Given the description of an element on the screen output the (x, y) to click on. 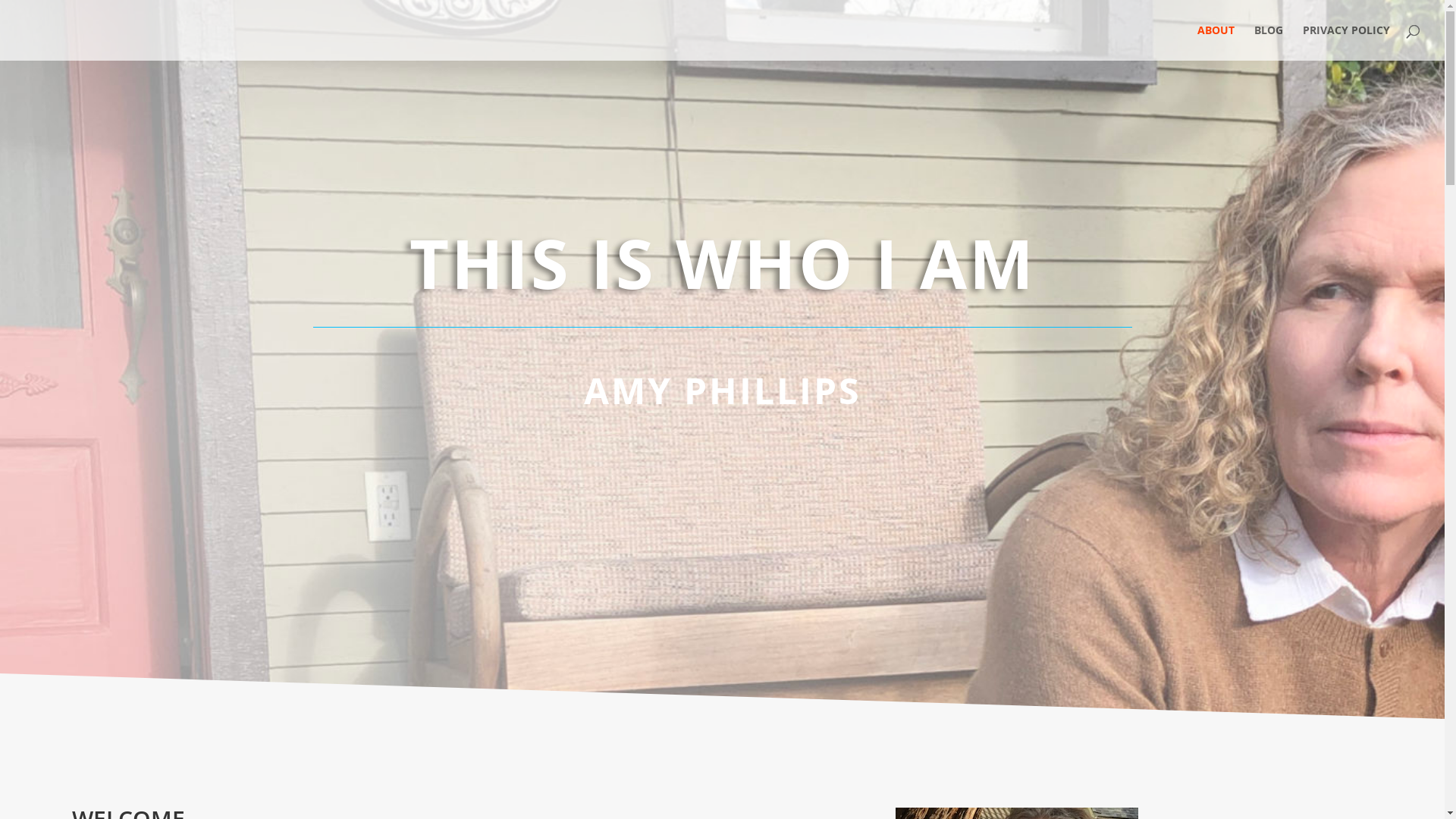
BLOG Element type: text (1268, 42)
PRIVACY POLICY Element type: text (1346, 42)
ABOUT Element type: text (1215, 42)
